Given the description of an element on the screen output the (x, y) to click on. 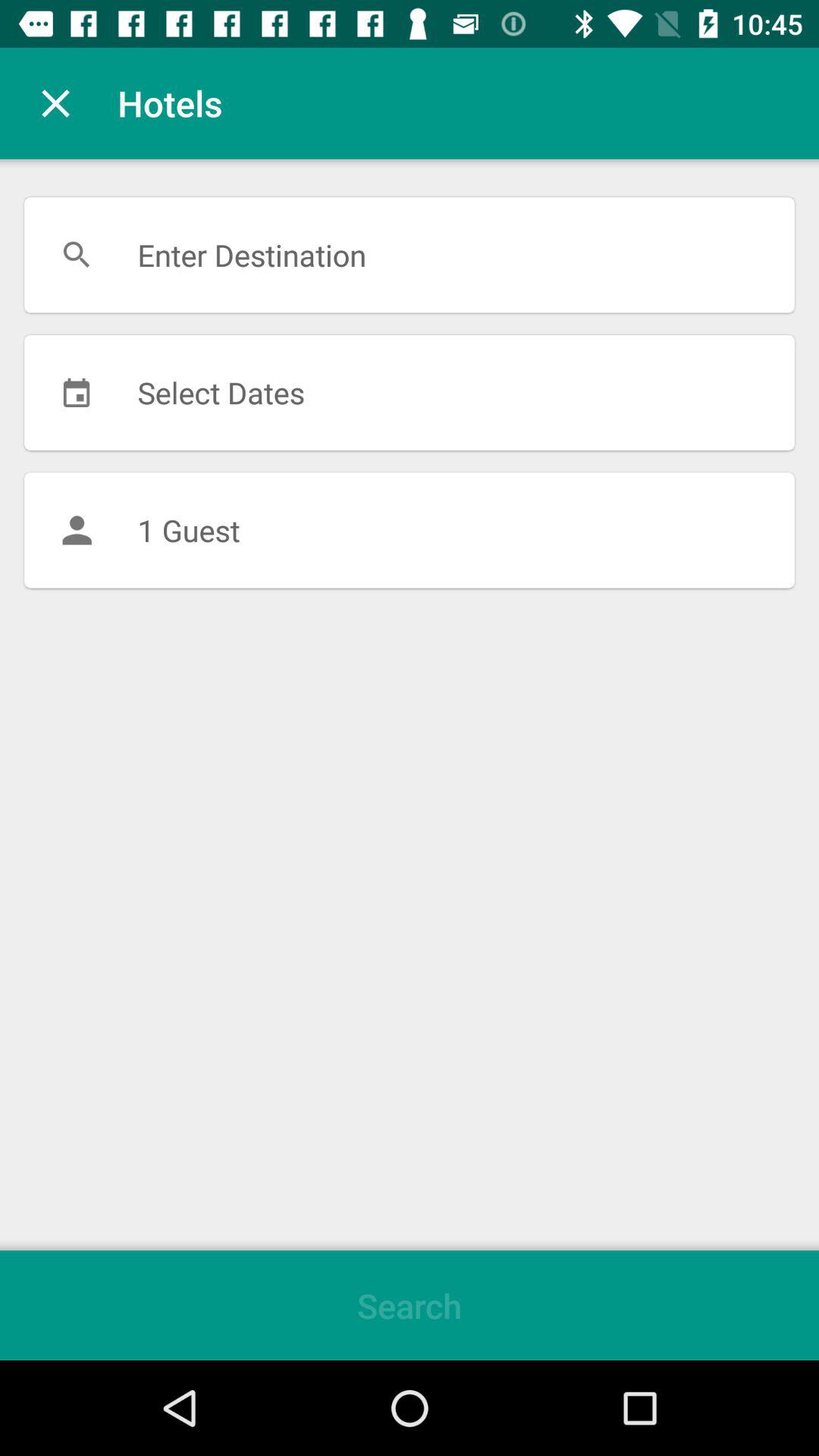
jump to select dates icon (409, 392)
